Given the description of an element on the screen output the (x, y) to click on. 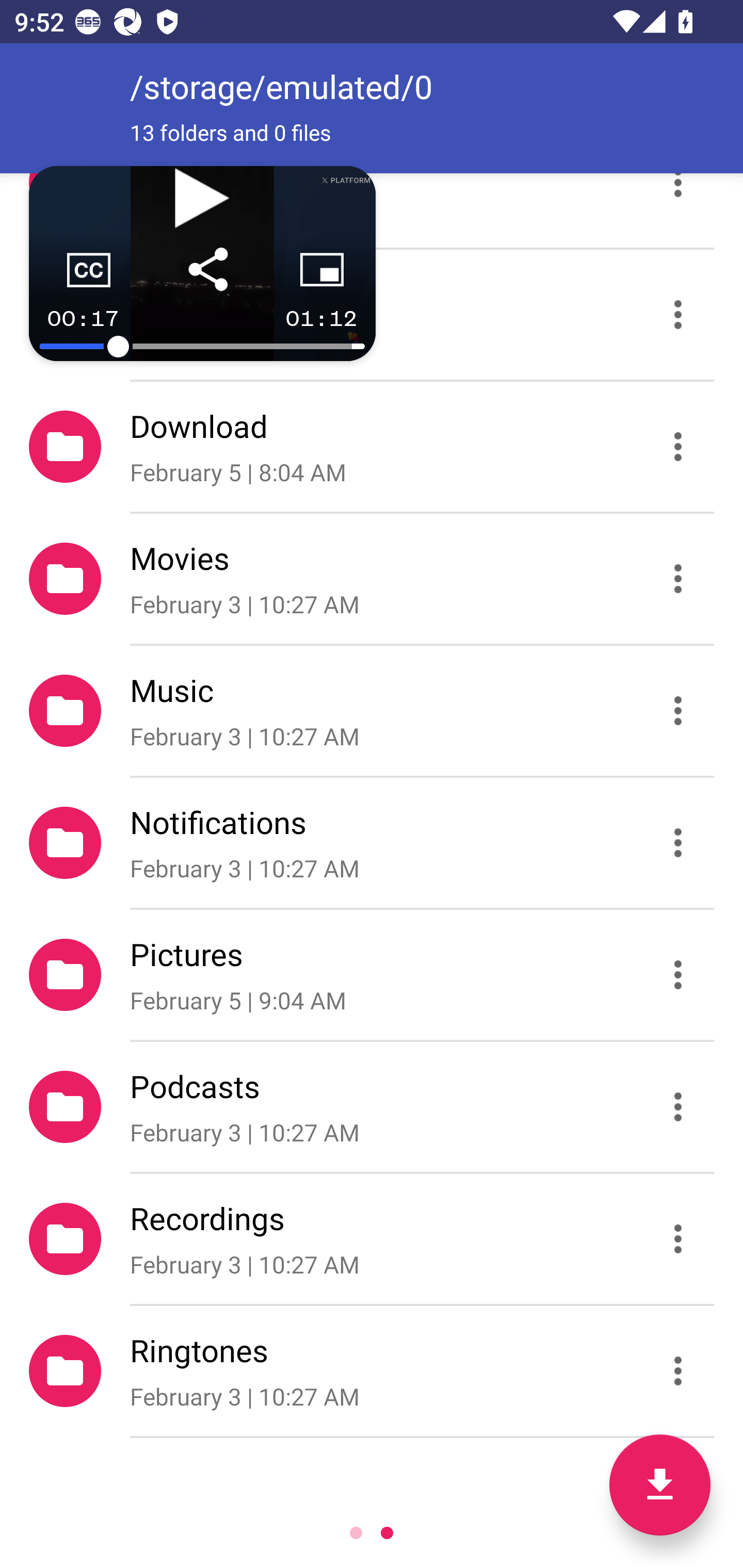
Download February 5 | 8:04 AM (371, 446)
Movies February 3 | 10:27 AM (371, 579)
Music February 3 | 10:27 AM (371, 711)
Notifications February 3 | 10:27 AM (371, 842)
Pictures February 5 | 9:04 AM (371, 974)
Podcasts February 3 | 10:27 AM (371, 1106)
Recordings February 3 | 10:27 AM (371, 1239)
Ringtones February 3 | 10:27 AM (371, 1371)
